Given the description of an element on the screen output the (x, y) to click on. 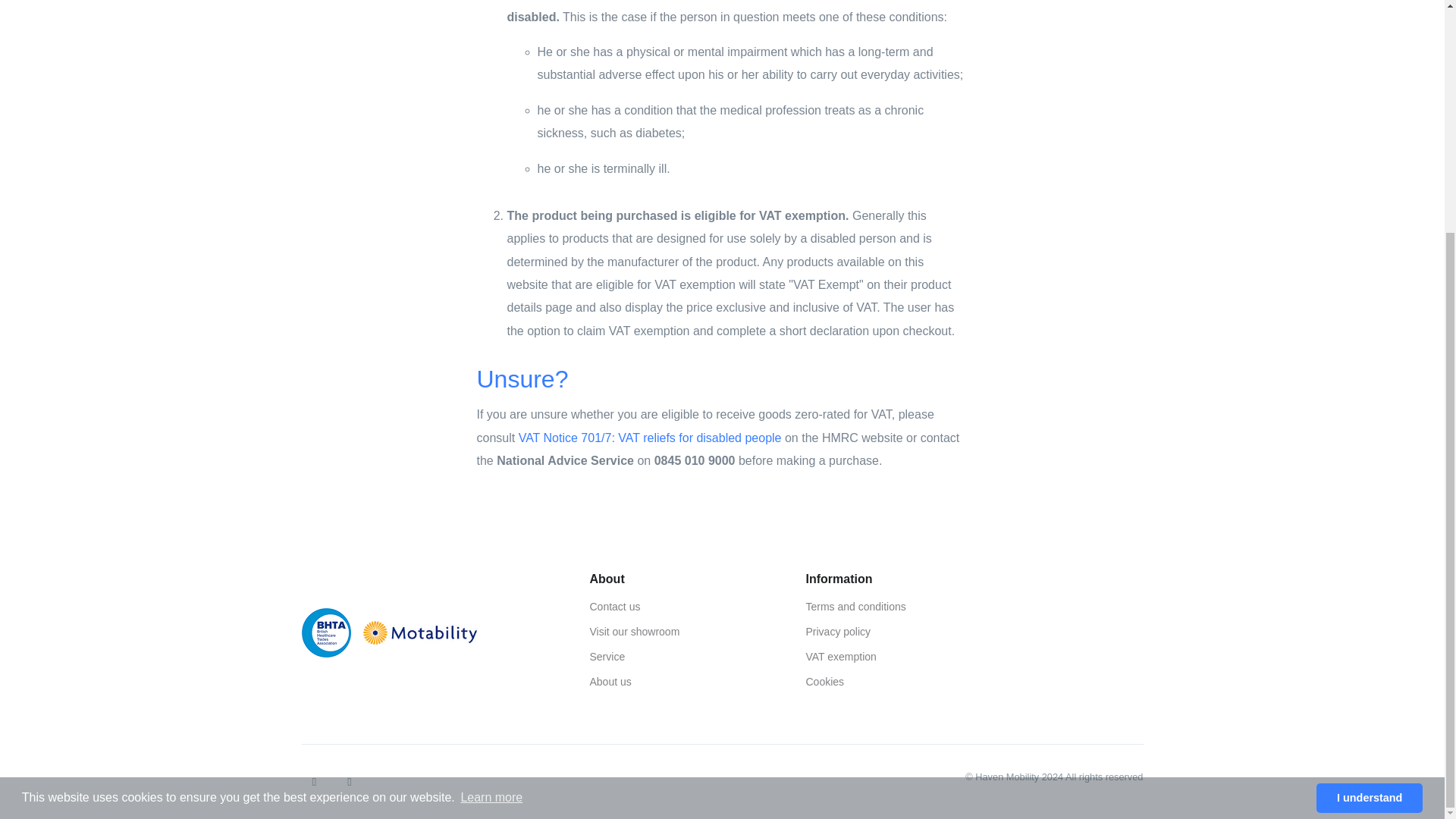
Privacy policy (901, 631)
I understand (1369, 481)
Contact us (686, 606)
About us (686, 681)
Cookies (901, 681)
Learn more (491, 481)
Terms and conditions (901, 606)
VAT exemption (901, 656)
Service (686, 656)
Visit our showroom (686, 631)
